Given the description of an element on the screen output the (x, y) to click on. 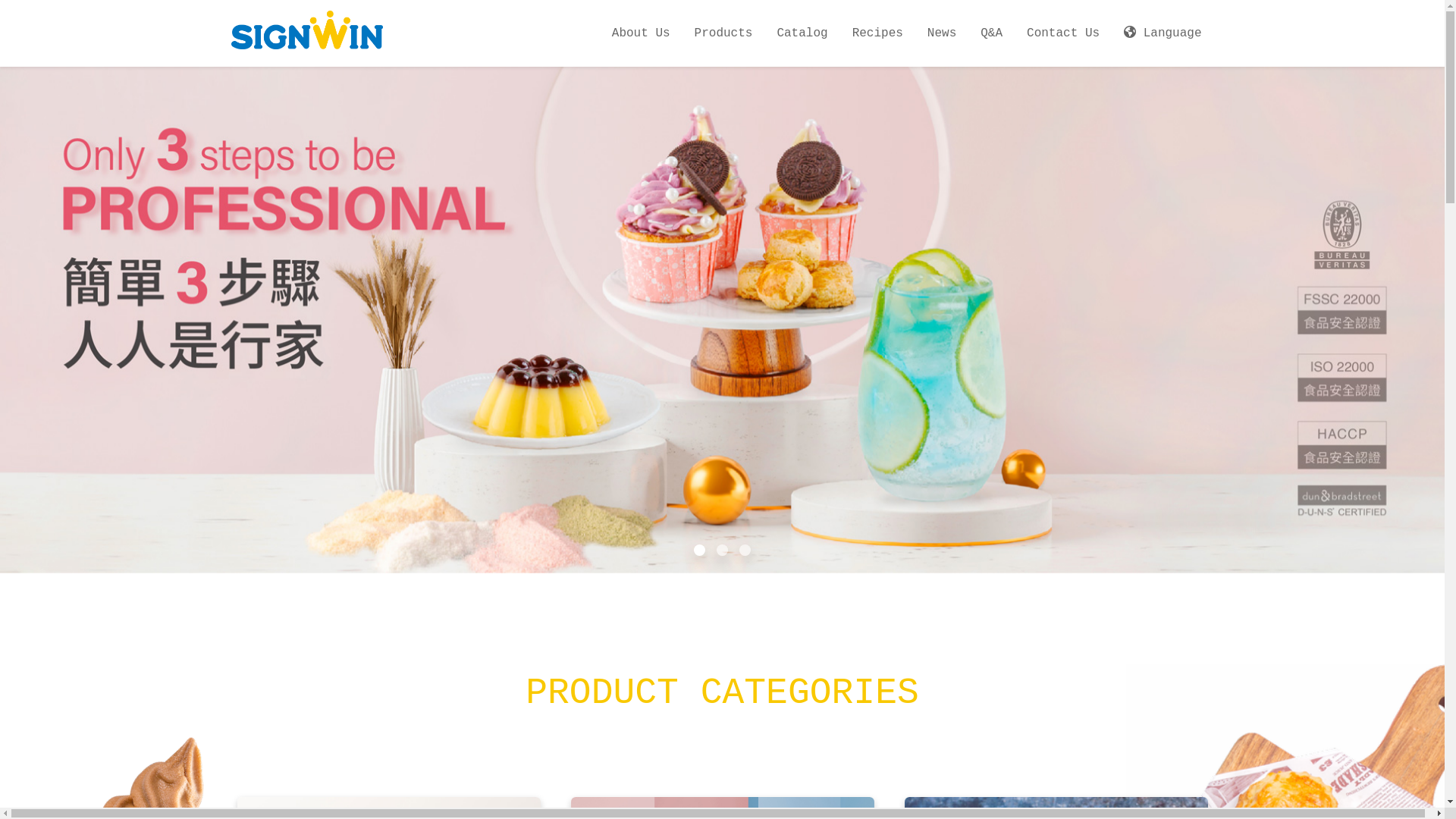
Language Element type: text (1162, 33)
News Element type: text (941, 33)
Q&A Element type: text (991, 33)
Products Element type: text (723, 33)
Contact Us Element type: text (1062, 33)
Catalog Element type: text (801, 33)
About Us Element type: text (640, 33)
Recipes Element type: text (877, 33)
